Given the description of an element on the screen output the (x, y) to click on. 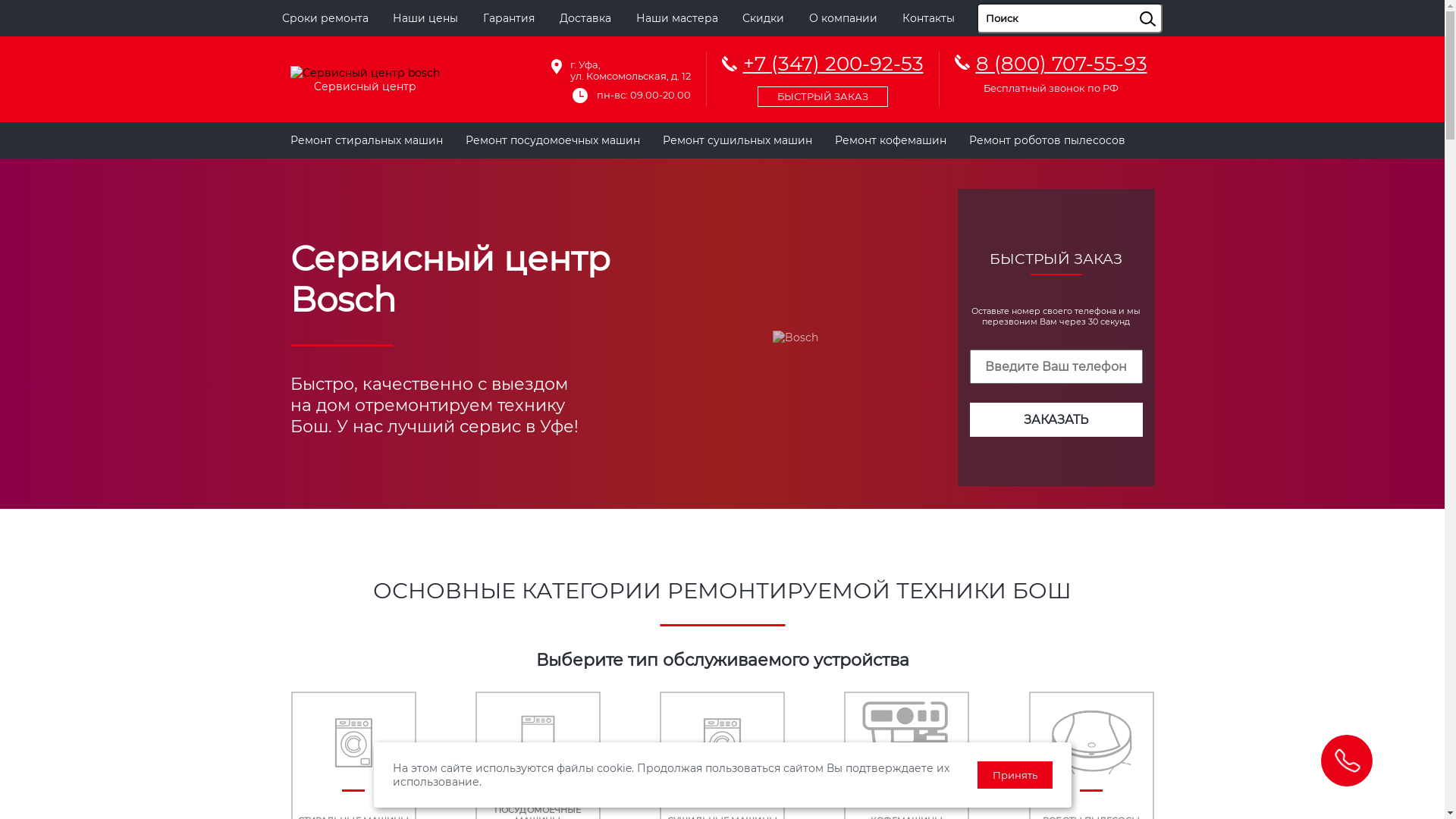
sisea.search Element type: text (1165, 3)
+7 (347) 200-92-53 Element type: text (822, 77)
8 (800) 707-55-93 Element type: text (1060, 63)
